Given the description of an element on the screen output the (x, y) to click on. 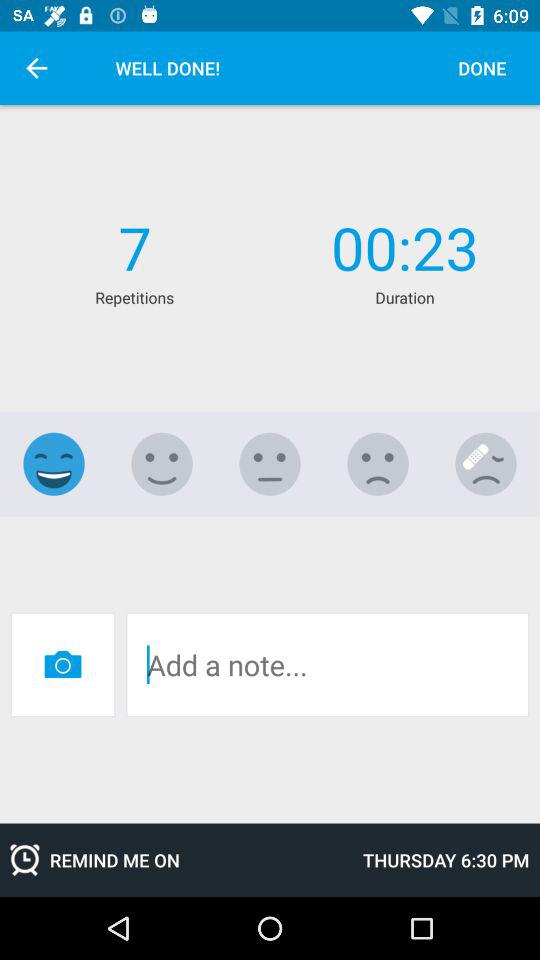
enter a rating (270, 463)
